Given the description of an element on the screen output the (x, y) to click on. 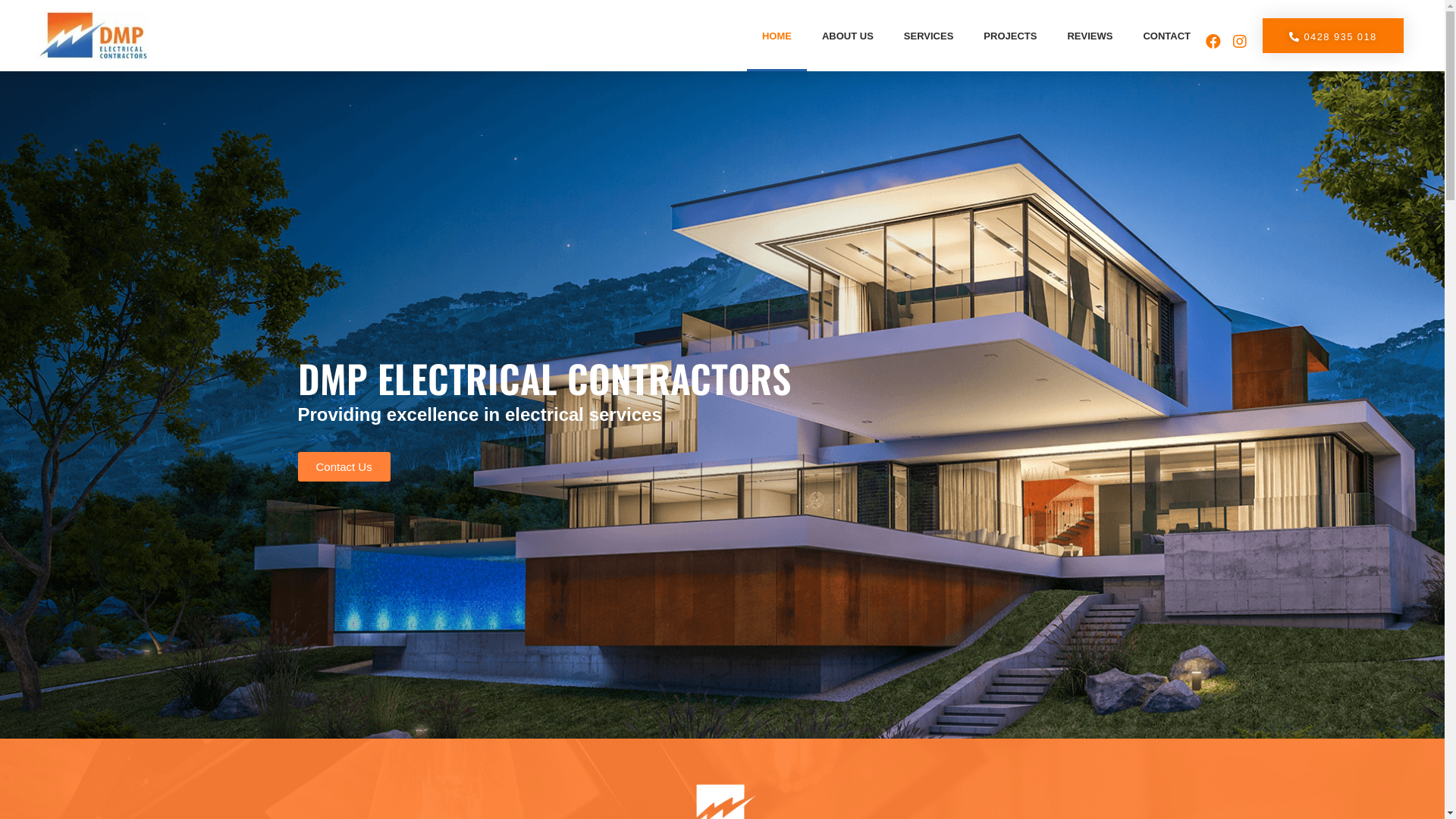
SERVICES Element type: text (928, 36)
REVIEWS Element type: text (1089, 36)
CONTACT Element type: text (1166, 36)
Contact Us Element type: text (343, 466)
0428 935 018 Element type: text (1332, 35)
HOME Element type: text (776, 36)
PROJECTS Element type: text (1009, 36)
ABOUT US Element type: text (847, 36)
